Given the description of an element on the screen output the (x, y) to click on. 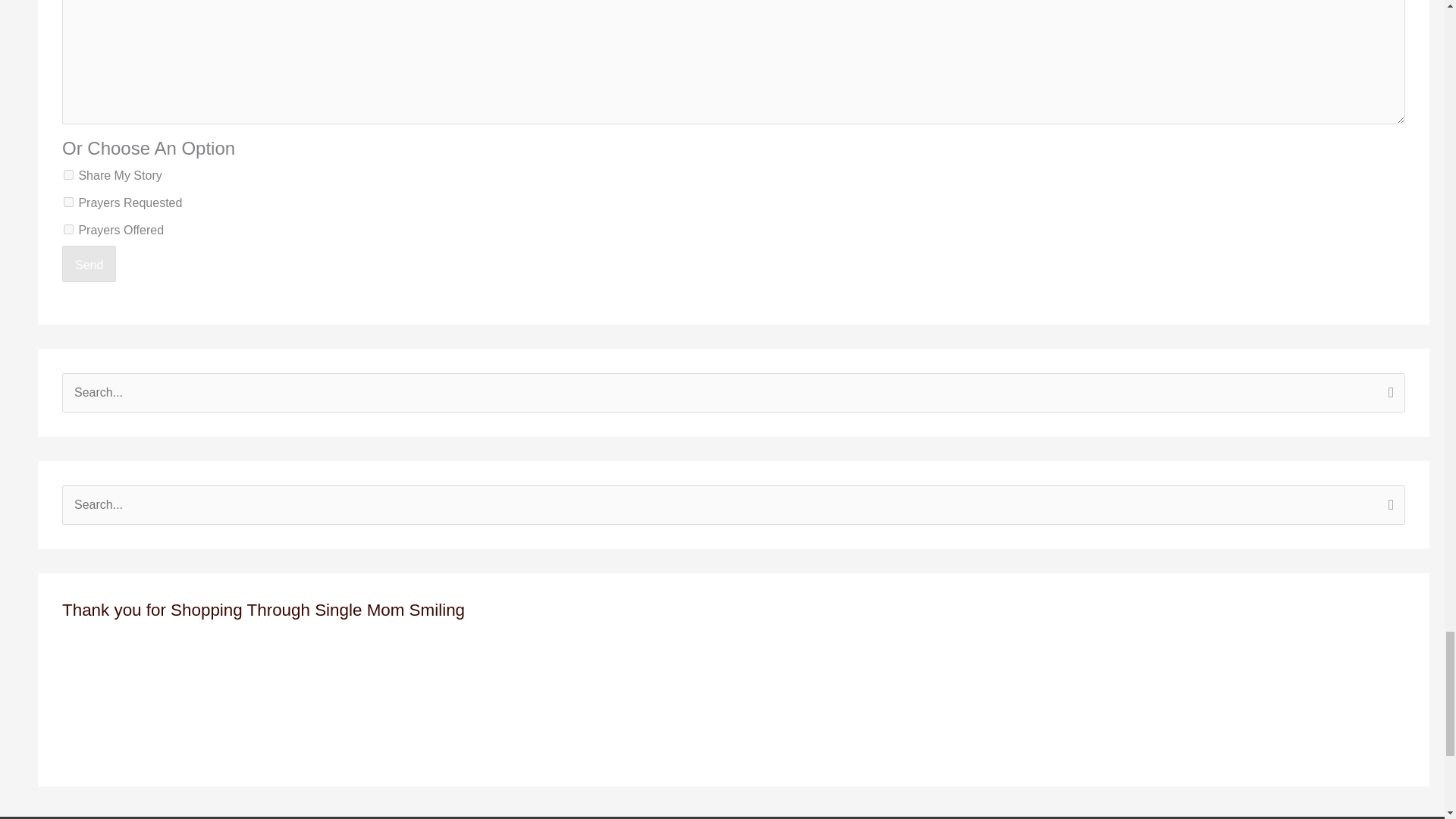
true (69, 229)
true (69, 174)
true (69, 202)
